Given the description of an element on the screen output the (x, y) to click on. 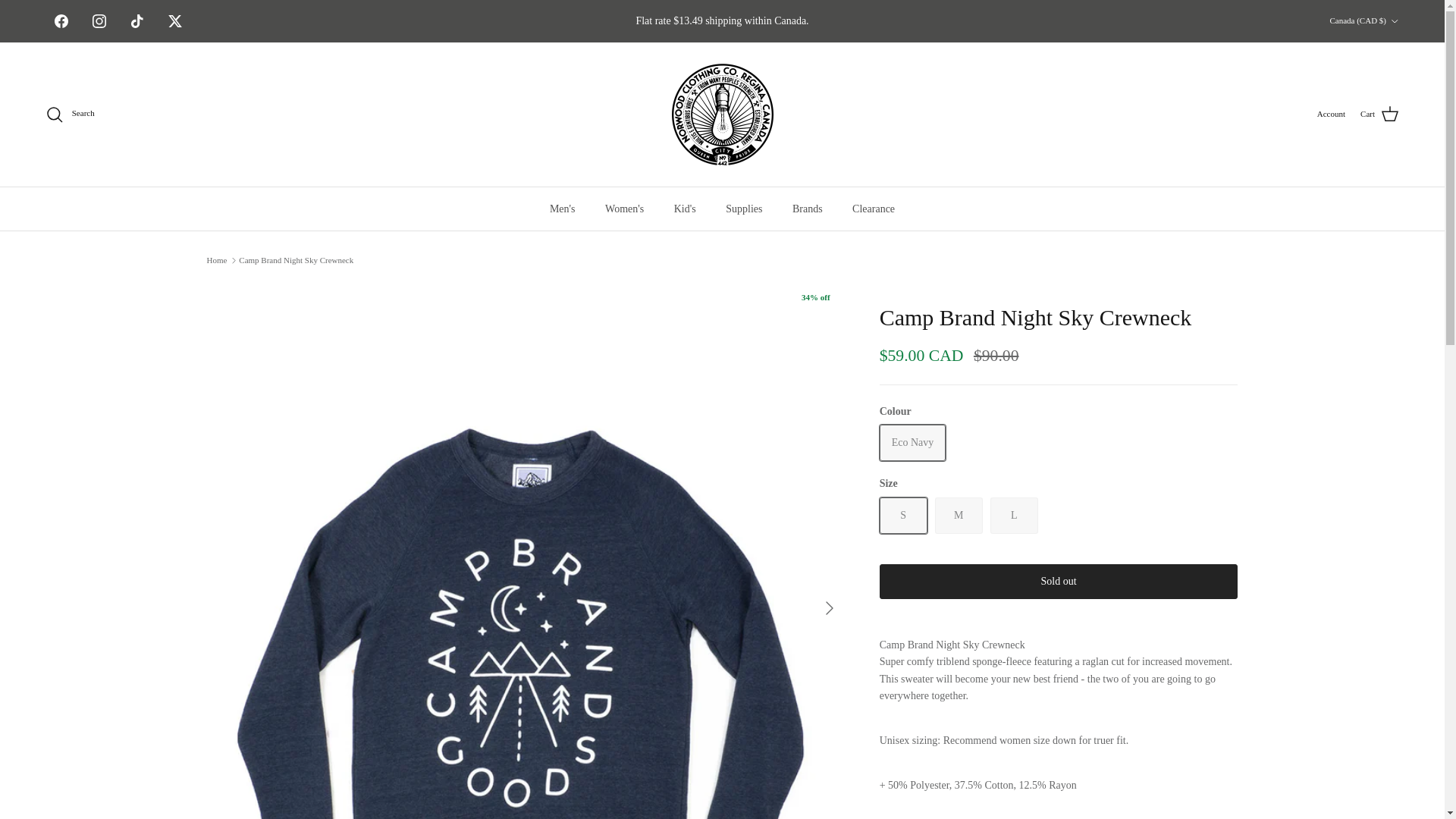
Men's (562, 208)
Norwood on Twitter (175, 20)
Facebook (61, 20)
Account (1331, 114)
Norwood on Instagram (99, 20)
Search (69, 114)
Sold out (1014, 515)
Twitter (175, 20)
Instagram (99, 20)
Sold out (903, 515)
